Given the description of an element on the screen output the (x, y) to click on. 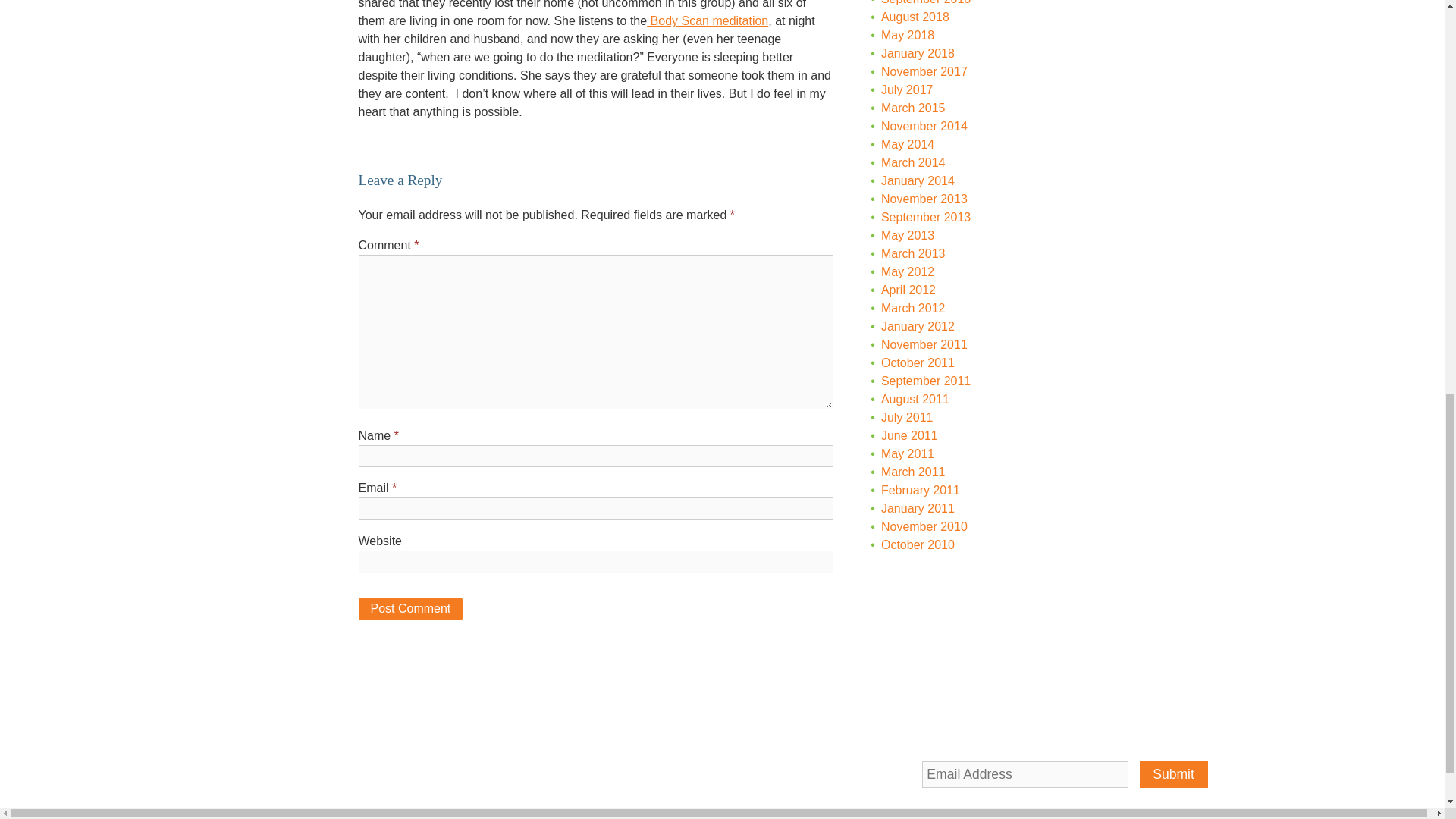
Post Comment (410, 608)
Body Scan meditation (707, 20)
Post Comment (410, 608)
Submit (1174, 774)
